Given the description of an element on the screen output the (x, y) to click on. 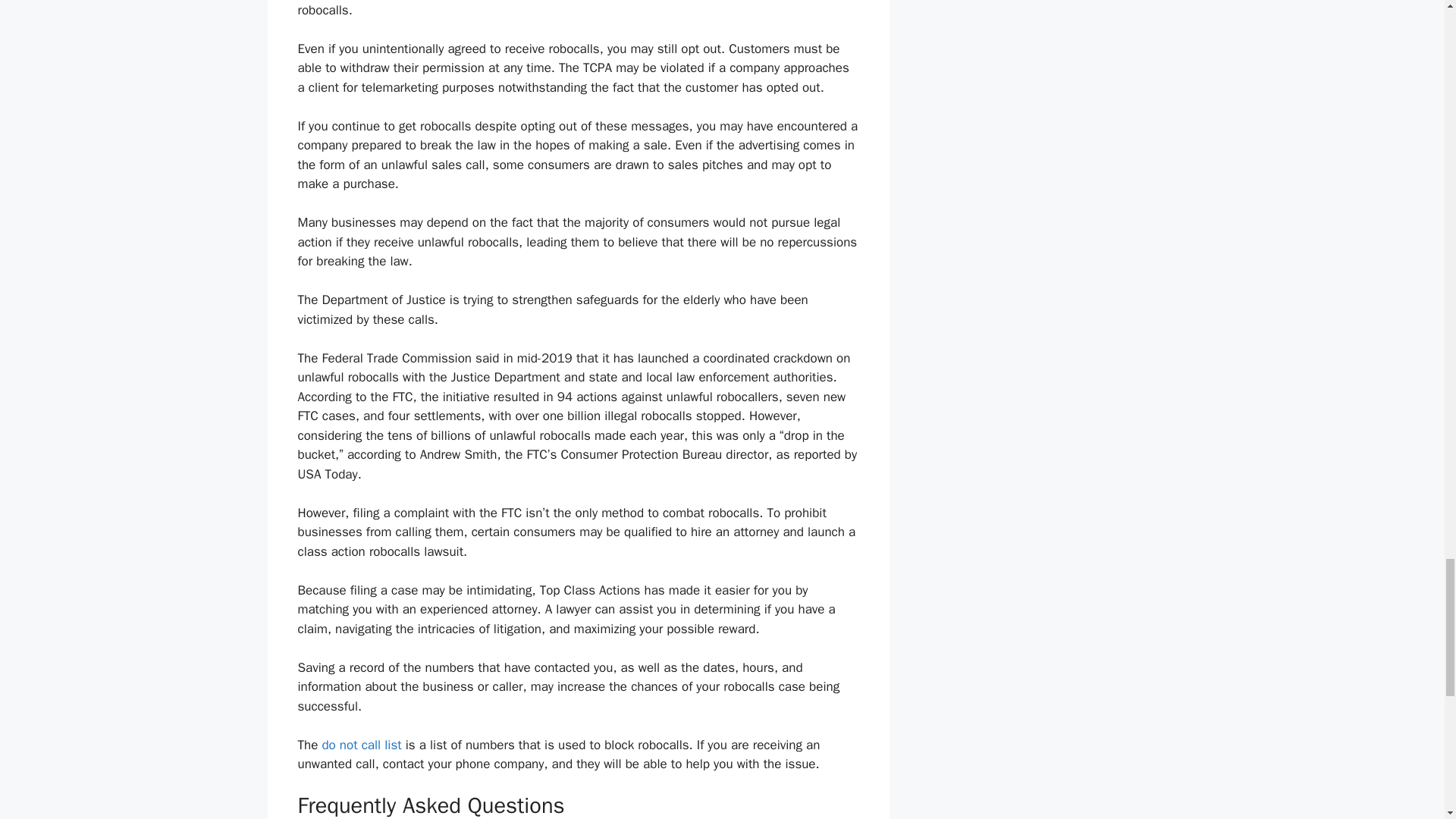
do not call list (361, 744)
